Given the description of an element on the screen output the (x, y) to click on. 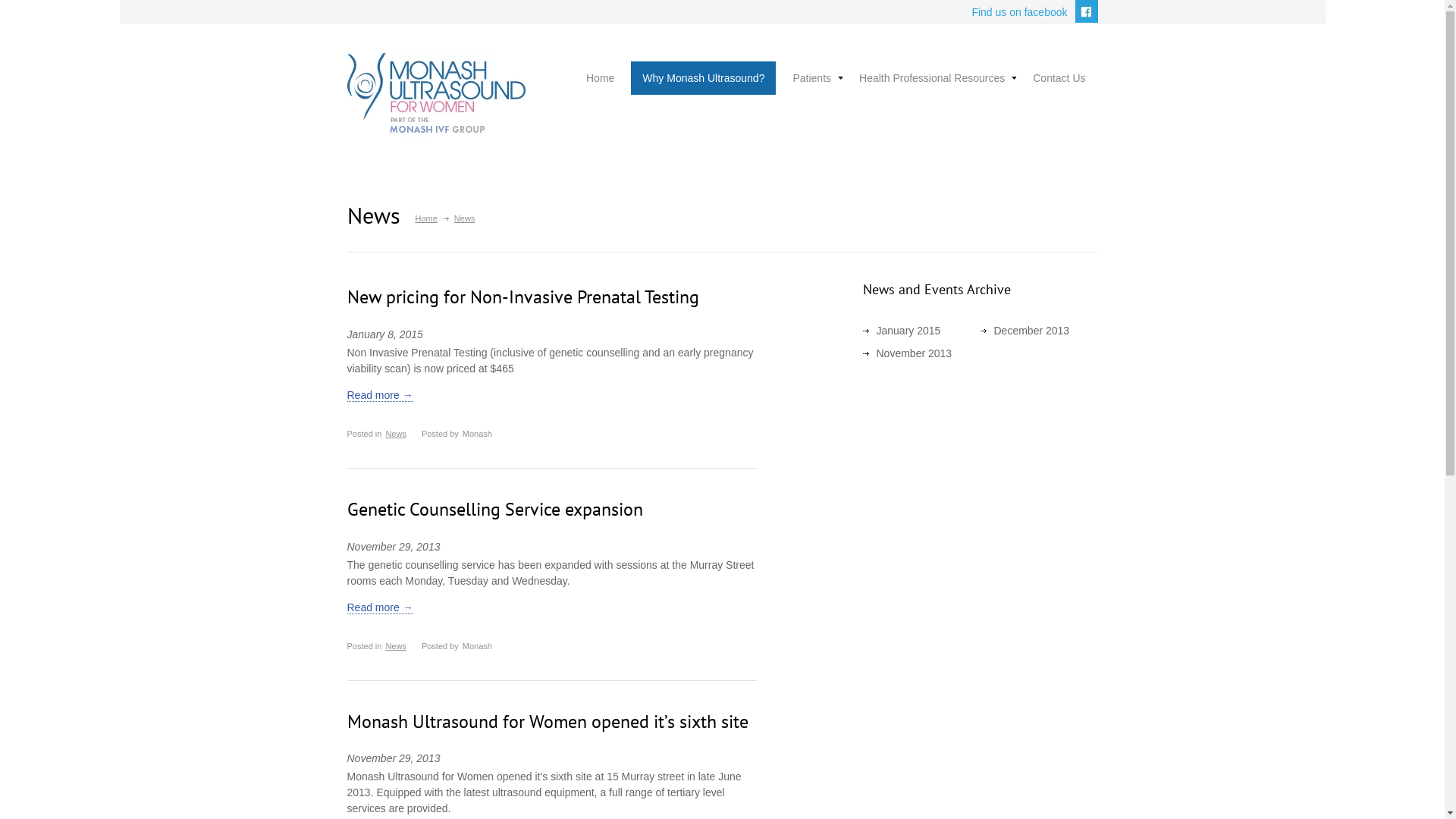
January 2015 Element type: text (908, 330)
Genetic Counselling Service expansion Element type: text (495, 508)
News Element type: text (395, 433)
Home Element type: text (426, 217)
Home Element type: text (600, 77)
Contact Us Element type: text (1058, 77)
November 2013 Element type: text (914, 353)
Health Professional Resources Element type: text (931, 77)
December 2013 Element type: text (1031, 330)
News Element type: text (395, 645)
Why Monash Ultrasound? Element type: text (703, 77)
Patients Element type: text (811, 77)
New pricing for Non-Invasive Prenatal Testing Element type: text (523, 296)
